Given the description of an element on the screen output the (x, y) to click on. 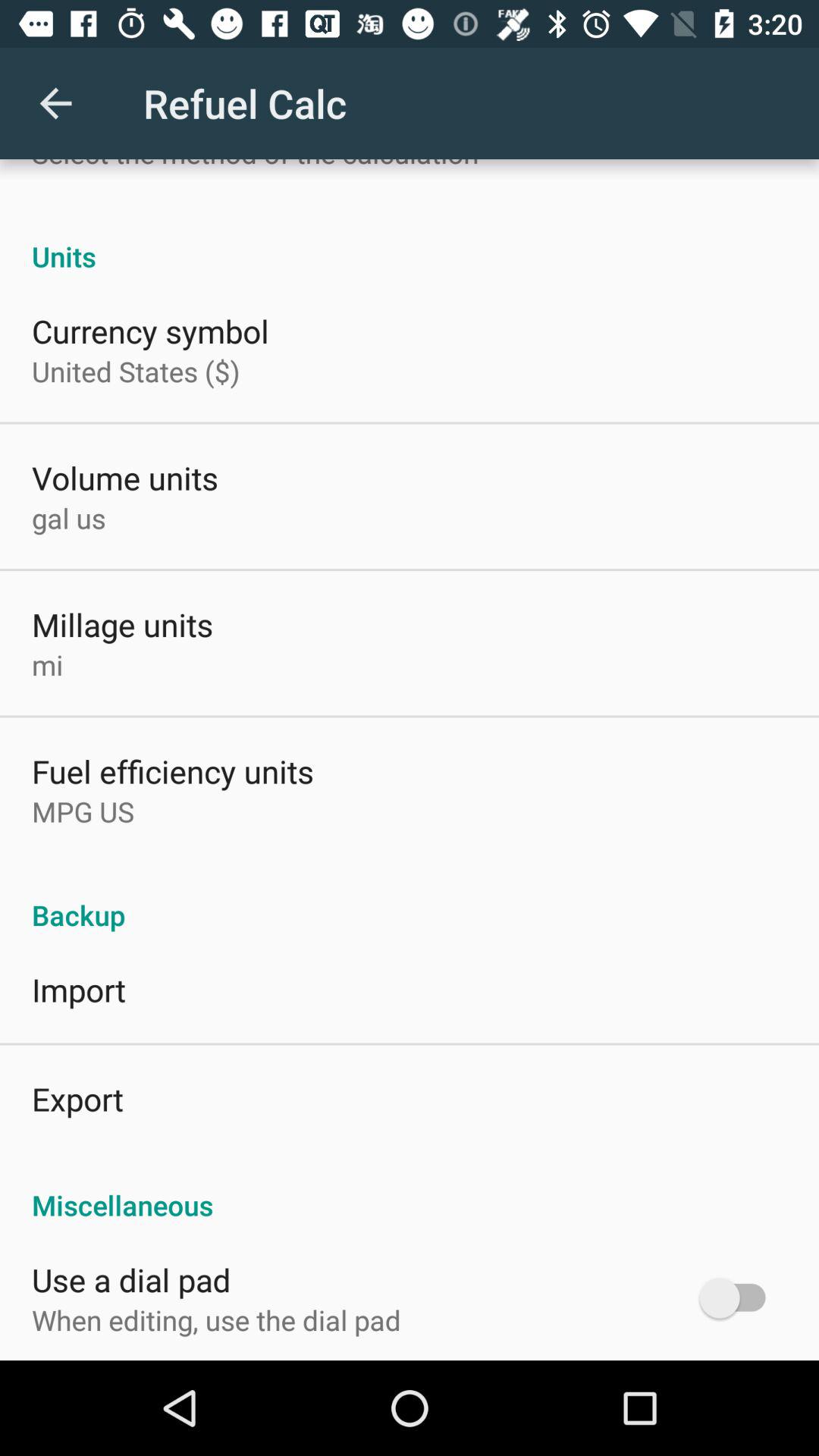
turn on the item above united states ($) item (150, 330)
